Given the description of an element on the screen output the (x, y) to click on. 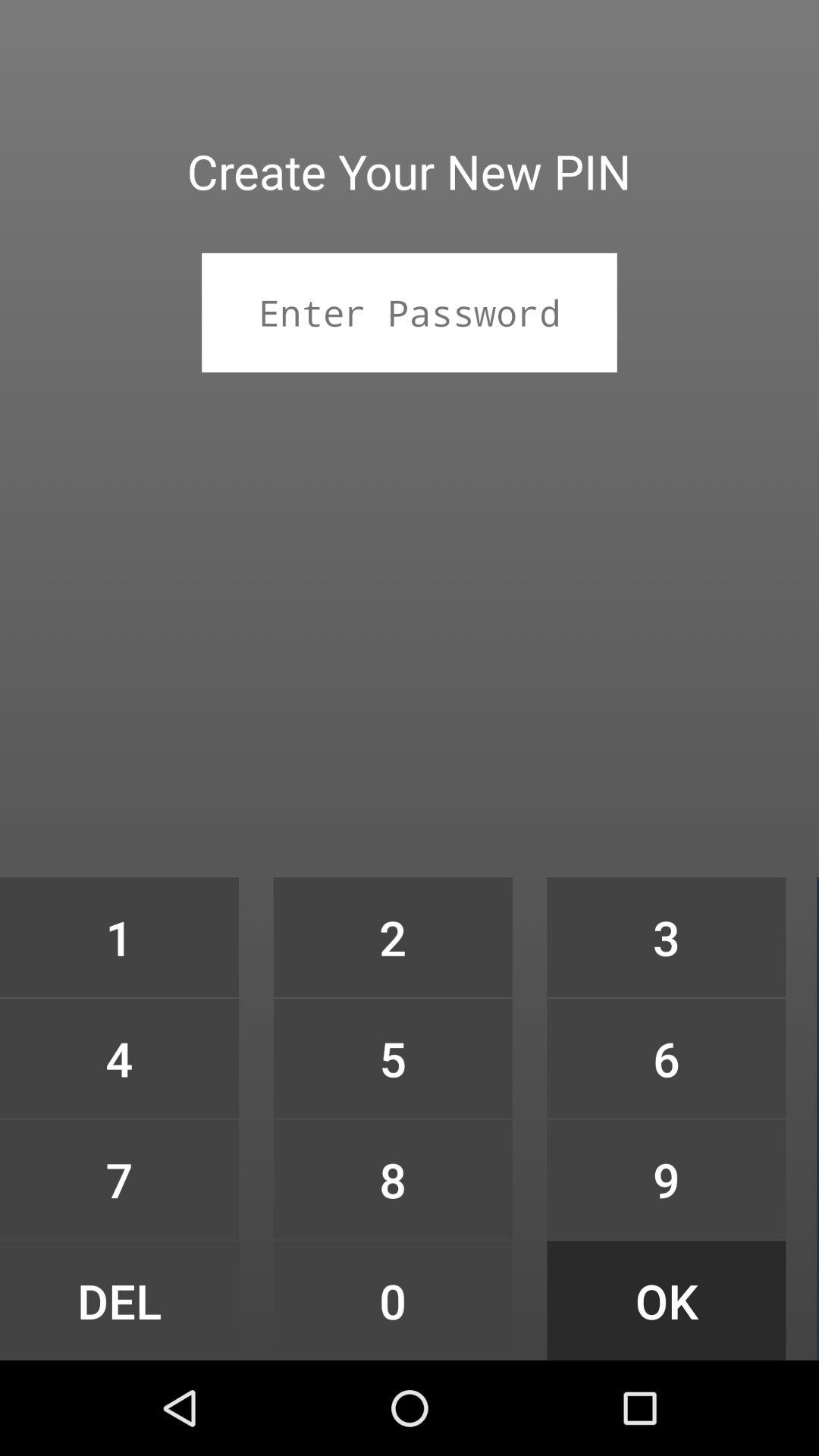
scroll until the 4 item (119, 1058)
